Given the description of an element on the screen output the (x, y) to click on. 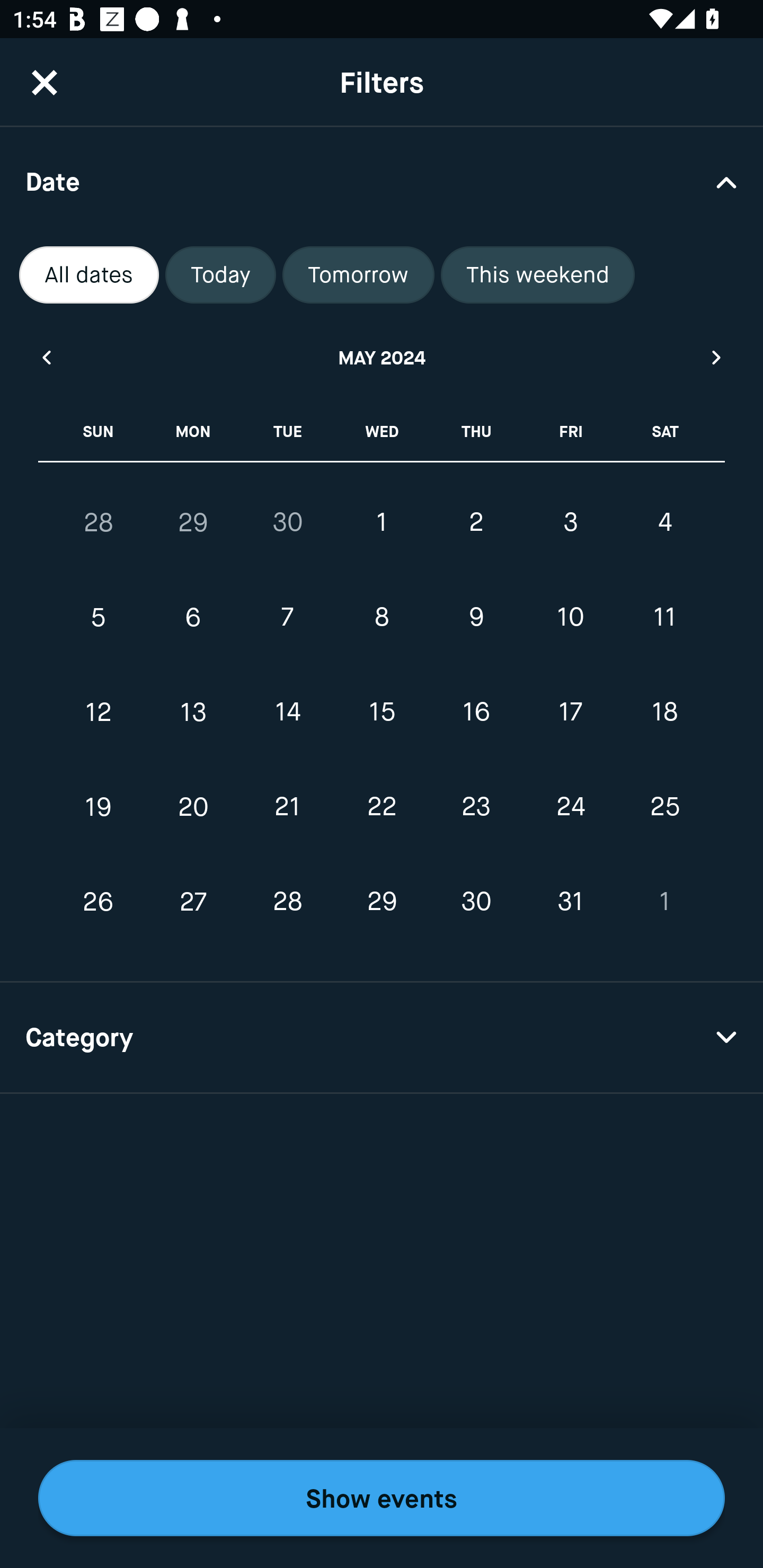
CloseButton (44, 82)
Date Drop Down Arrow (381, 181)
All dates (88, 274)
Today (220, 274)
Tomorrow (358, 274)
This weekend (537, 274)
Previous (45, 357)
Next (717, 357)
28 (98, 522)
29 (192, 522)
30 (287, 522)
1 (381, 522)
2 (475, 522)
3 (570, 522)
4 (664, 522)
5 (98, 617)
6 (192, 617)
7 (287, 617)
8 (381, 617)
9 (475, 617)
10 (570, 617)
11 (664, 617)
12 (98, 711)
13 (192, 711)
14 (287, 711)
15 (381, 711)
16 (475, 711)
17 (570, 711)
18 (664, 711)
19 (98, 806)
20 (192, 806)
21 (287, 806)
22 (381, 806)
23 (475, 806)
24 (570, 806)
25 (664, 806)
26 (98, 901)
27 (192, 901)
28 (287, 901)
29 (381, 901)
30 (475, 901)
31 (570, 901)
1 (664, 901)
Category Drop Down Arrow (381, 1038)
Show events (381, 1497)
